Given the description of an element on the screen output the (x, y) to click on. 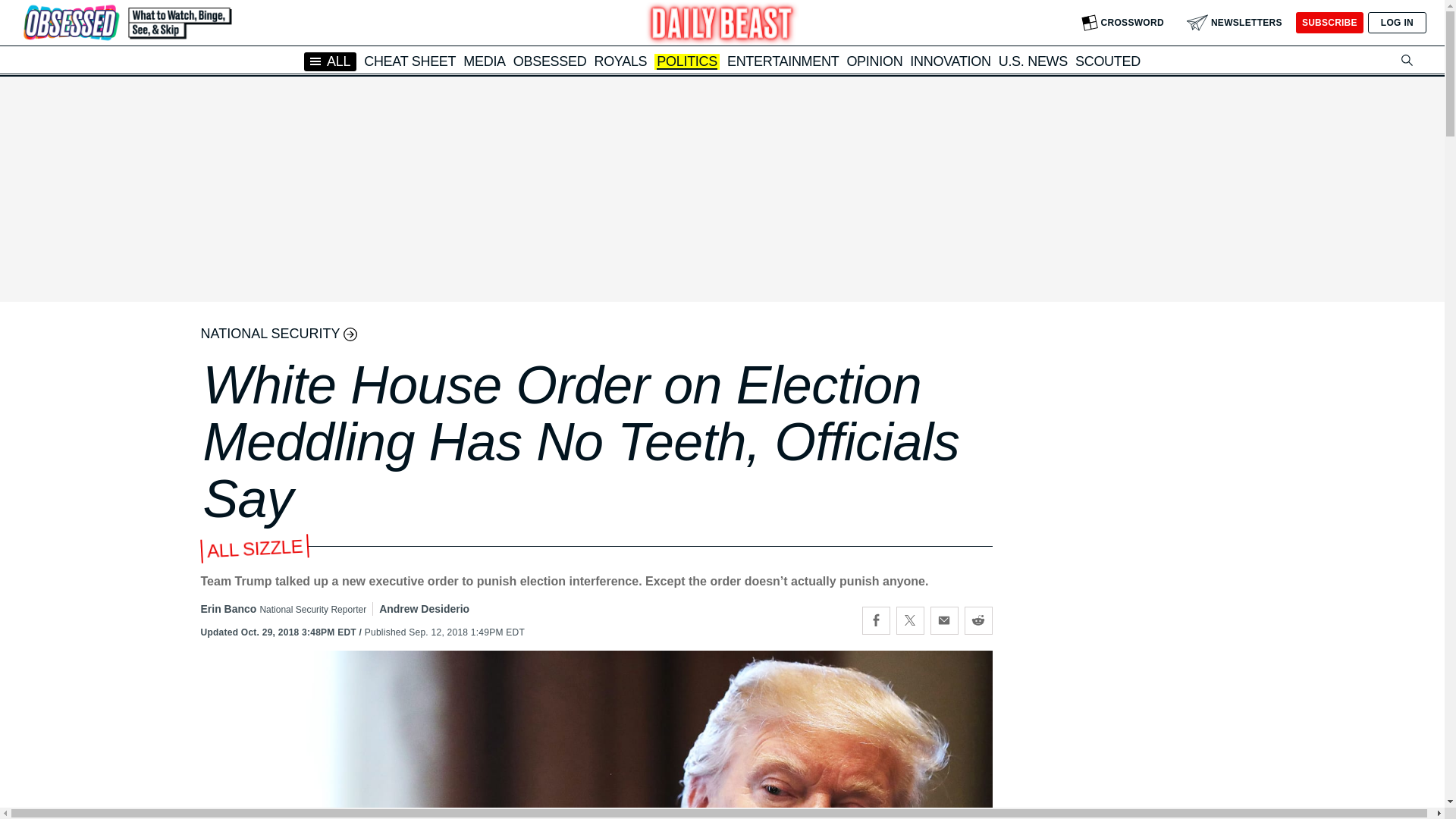
NEWSLETTERS (1234, 22)
U.S. NEWS (1032, 60)
ENTERTAINMENT (782, 60)
SCOUTED (1107, 60)
SUBSCRIBE (1328, 22)
INNOVATION (950, 60)
ALL (330, 60)
CHEAT SHEET (409, 60)
